Given the description of an element on the screen output the (x, y) to click on. 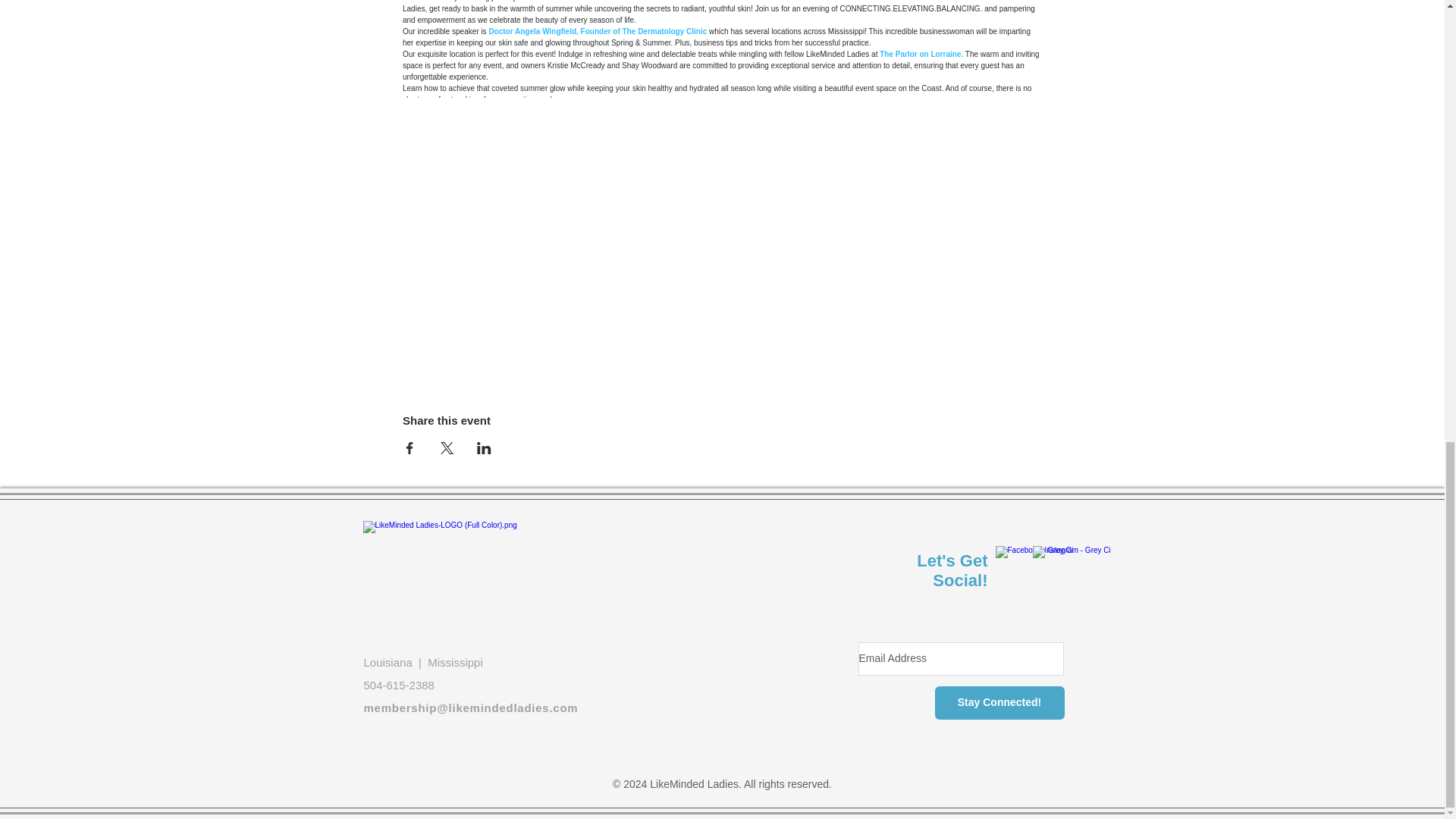
Stay Connected! (999, 702)
Doctor Angela Wingfield, Founder of The Dermatology Clinic (596, 31)
The Parlor on Lorraine. (920, 53)
